Given the description of an element on the screen output the (x, y) to click on. 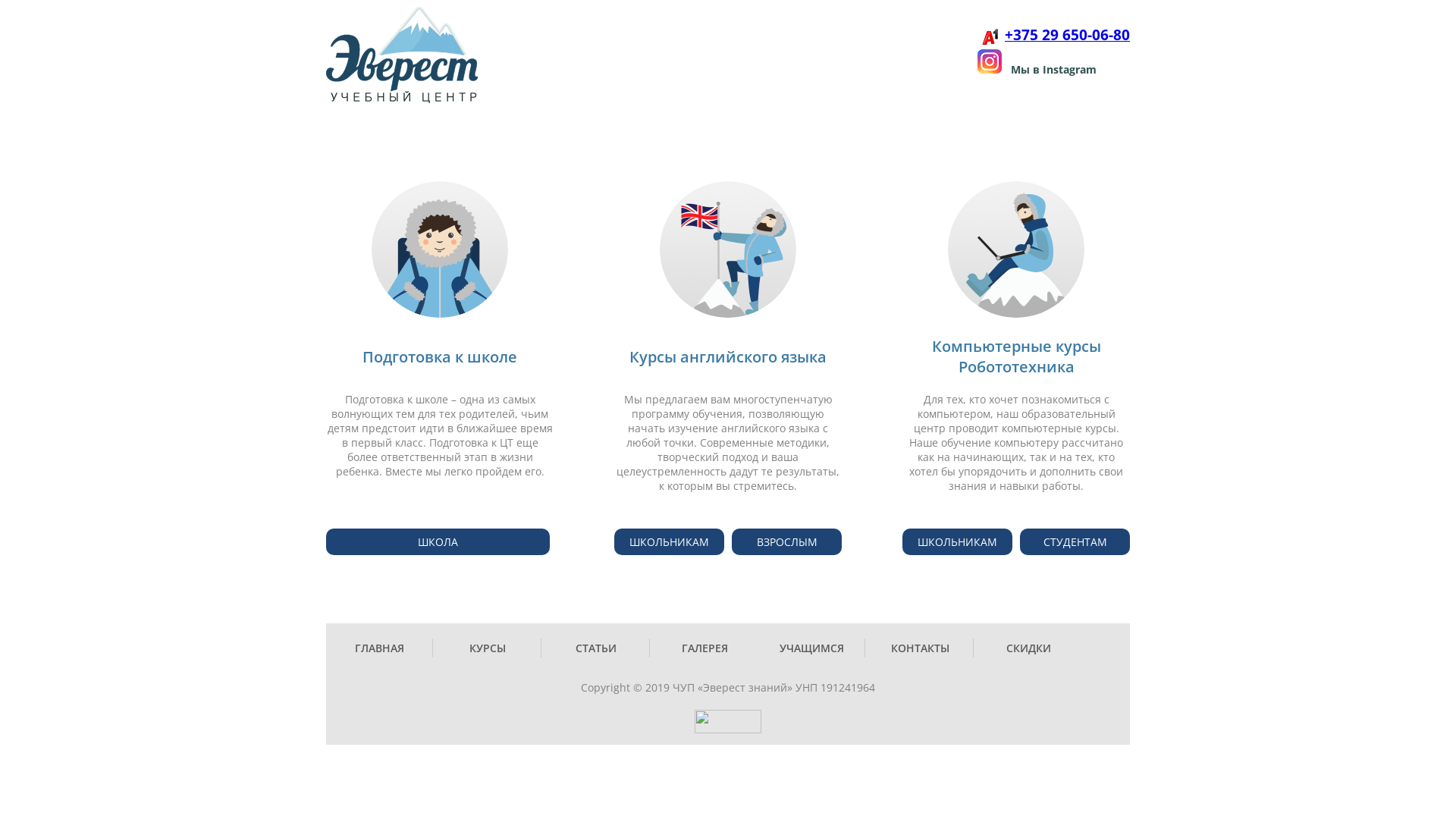
+375 29 650-06-80 Element type: text (1066, 35)
